Given the description of an element on the screen output the (x, y) to click on. 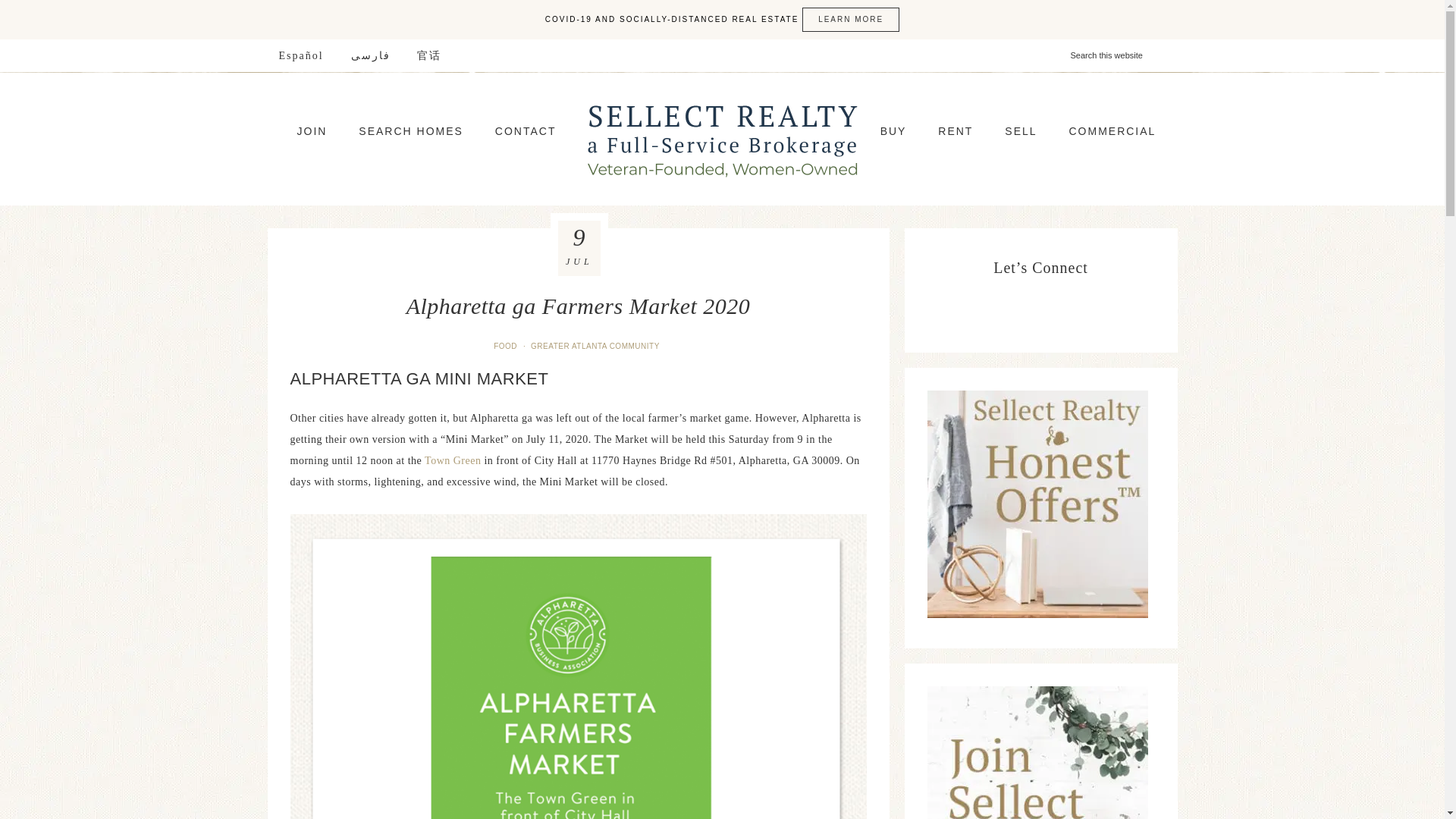
FOOD (506, 346)
SEARCH HOMES (411, 130)
CONTACT (525, 130)
RENT (955, 130)
LEARN MORE (850, 19)
Town Green (452, 460)
COMMERCIAL (1111, 130)
GREATER ATLANTA COMMUNITY (596, 346)
SELLECT REALTY FULL-SERVICE GEORGIA REAL ESTATE AND CAREERS (722, 138)
SELL (1020, 130)
JOIN (311, 130)
BUY (893, 130)
